Given the description of an element on the screen output the (x, y) to click on. 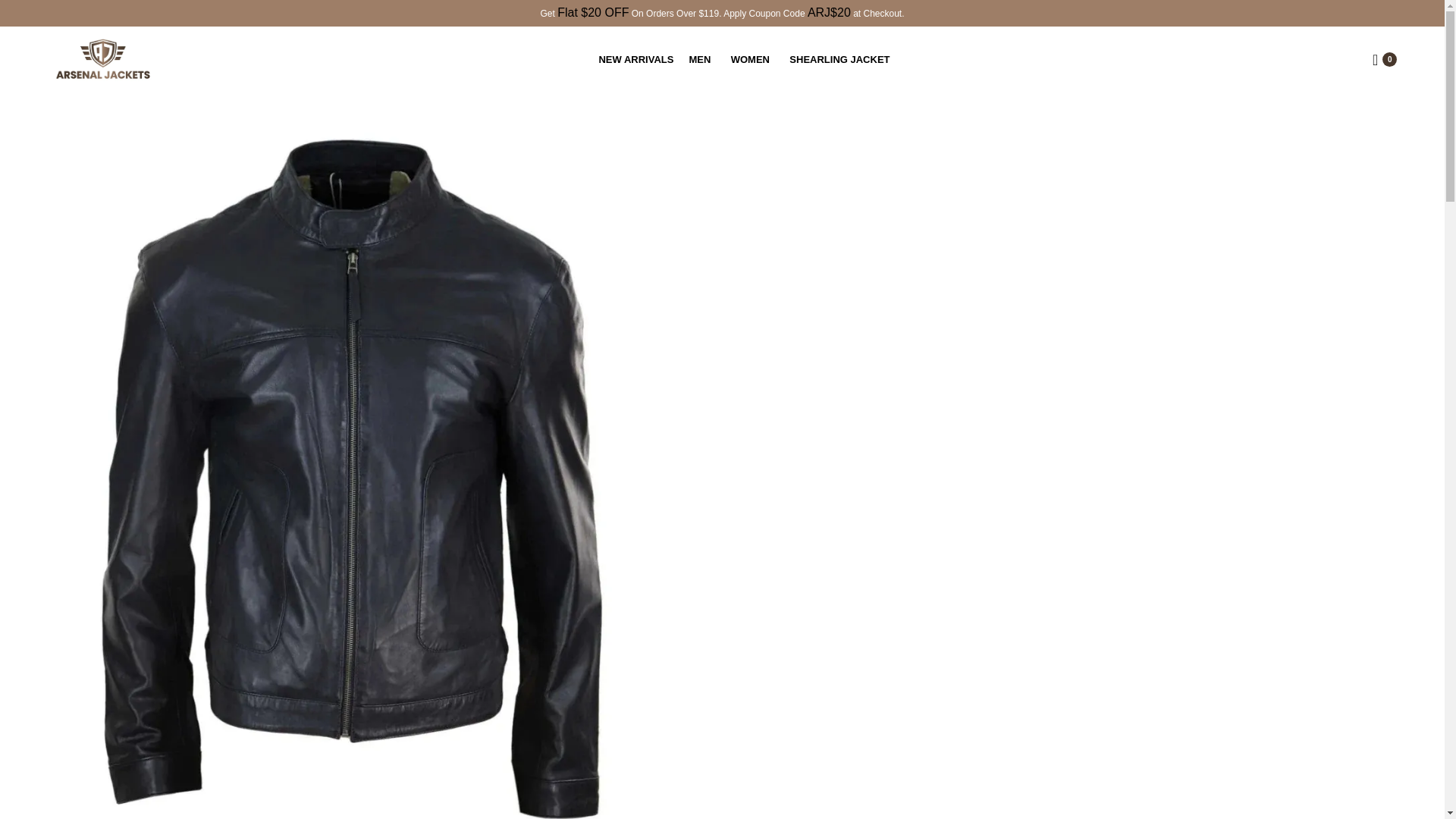
NEW ARRIVALS (636, 59)
SHEARLING JACKET (841, 59)
WOMEN (753, 59)
MEN (701, 59)
Shopping cart (1385, 59)
0 (1385, 59)
